Given the description of an element on the screen output the (x, y) to click on. 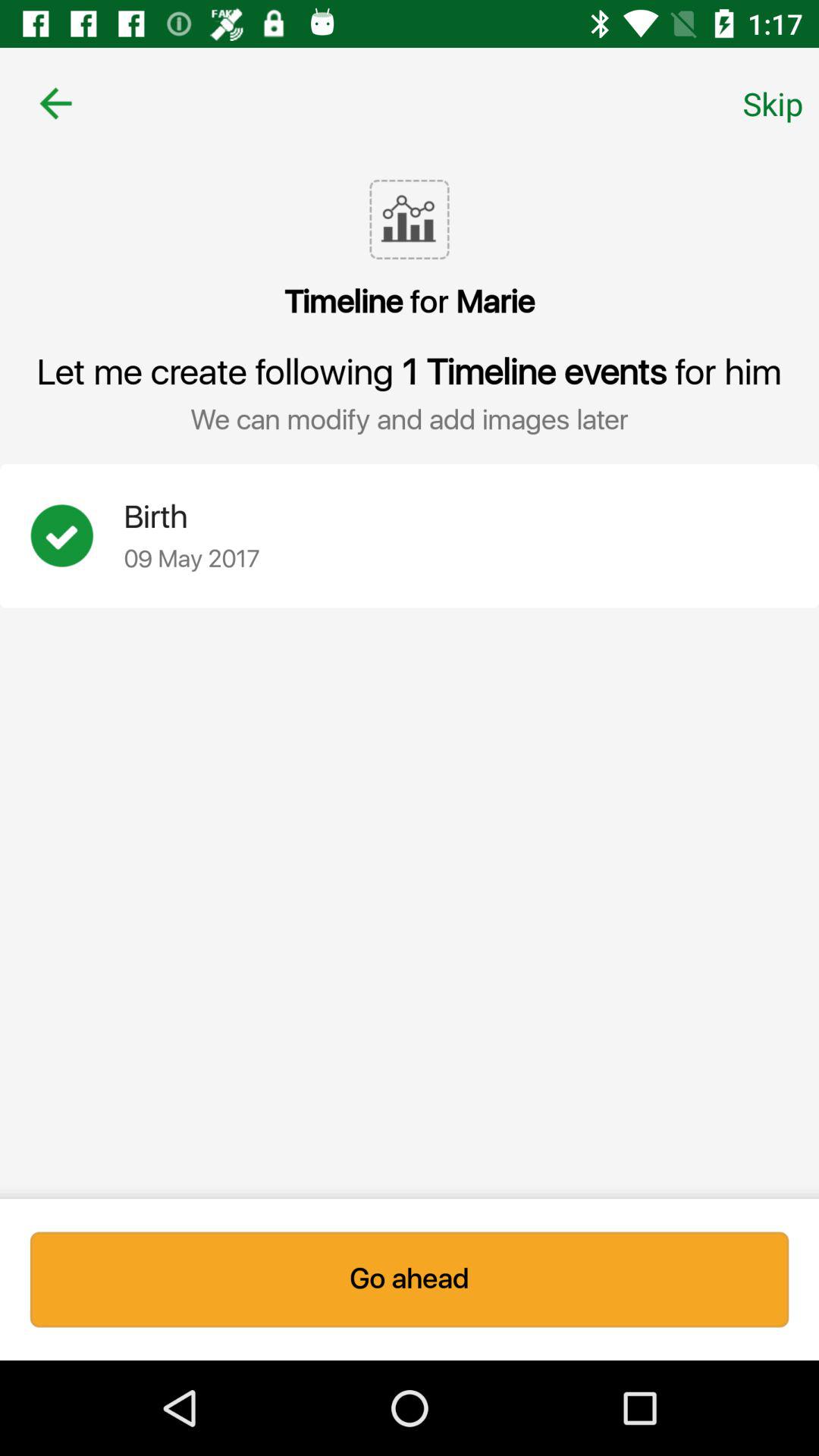
turn on icon at the top right corner (772, 103)
